Given the description of an element on the screen output the (x, y) to click on. 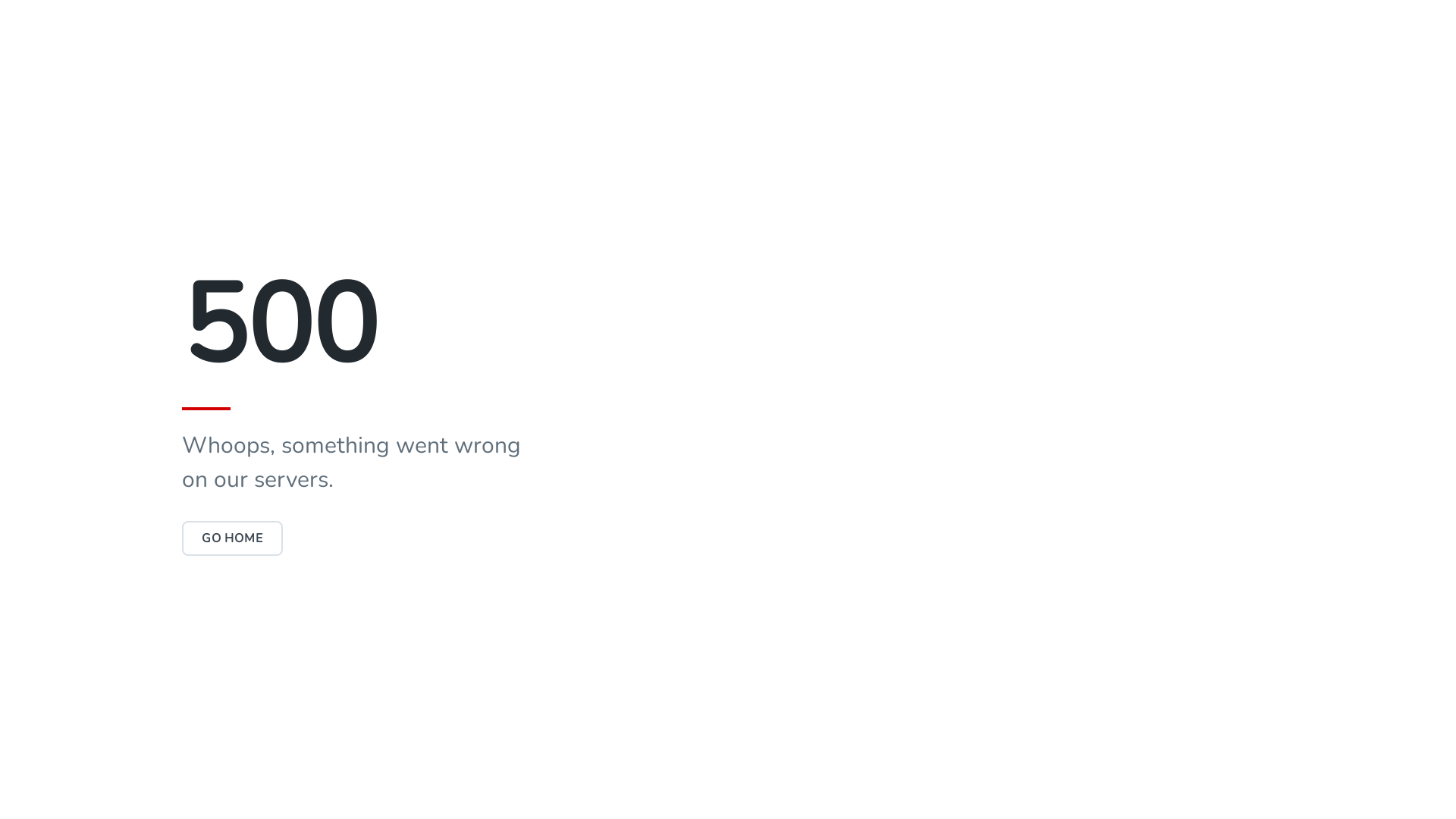
GO HOME Element type: text (232, 538)
GO HOME Element type: text (232, 537)
